Given the description of an element on the screen output the (x, y) to click on. 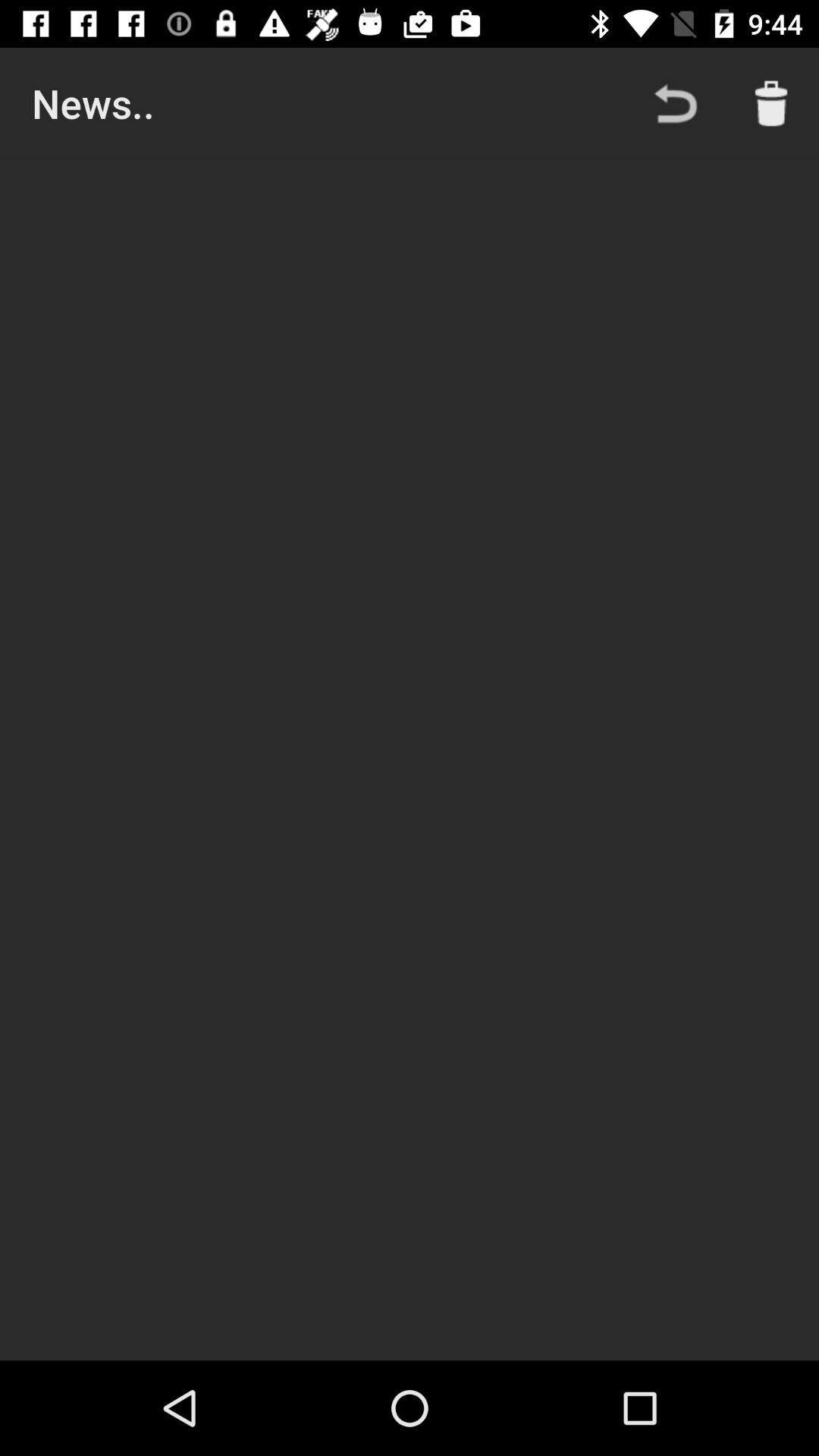
select item to the right of the news.. icon (675, 103)
